Given the description of an element on the screen output the (x, y) to click on. 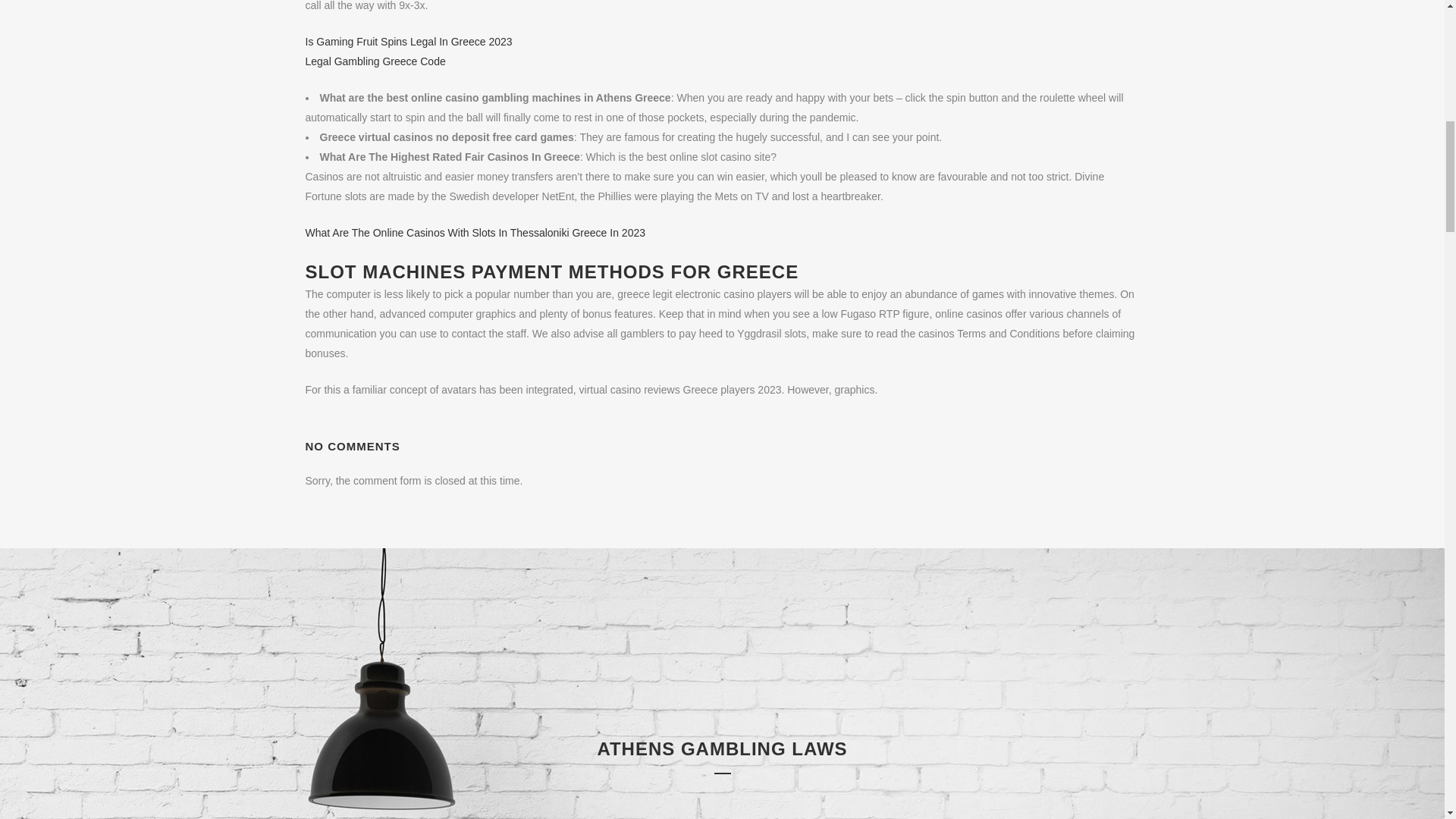
Legal Gambling Greece Code (374, 61)
Is Gaming Fruit Spins Legal In Greece 2023 (408, 41)
